Given the description of an element on the screen output the (x, y) to click on. 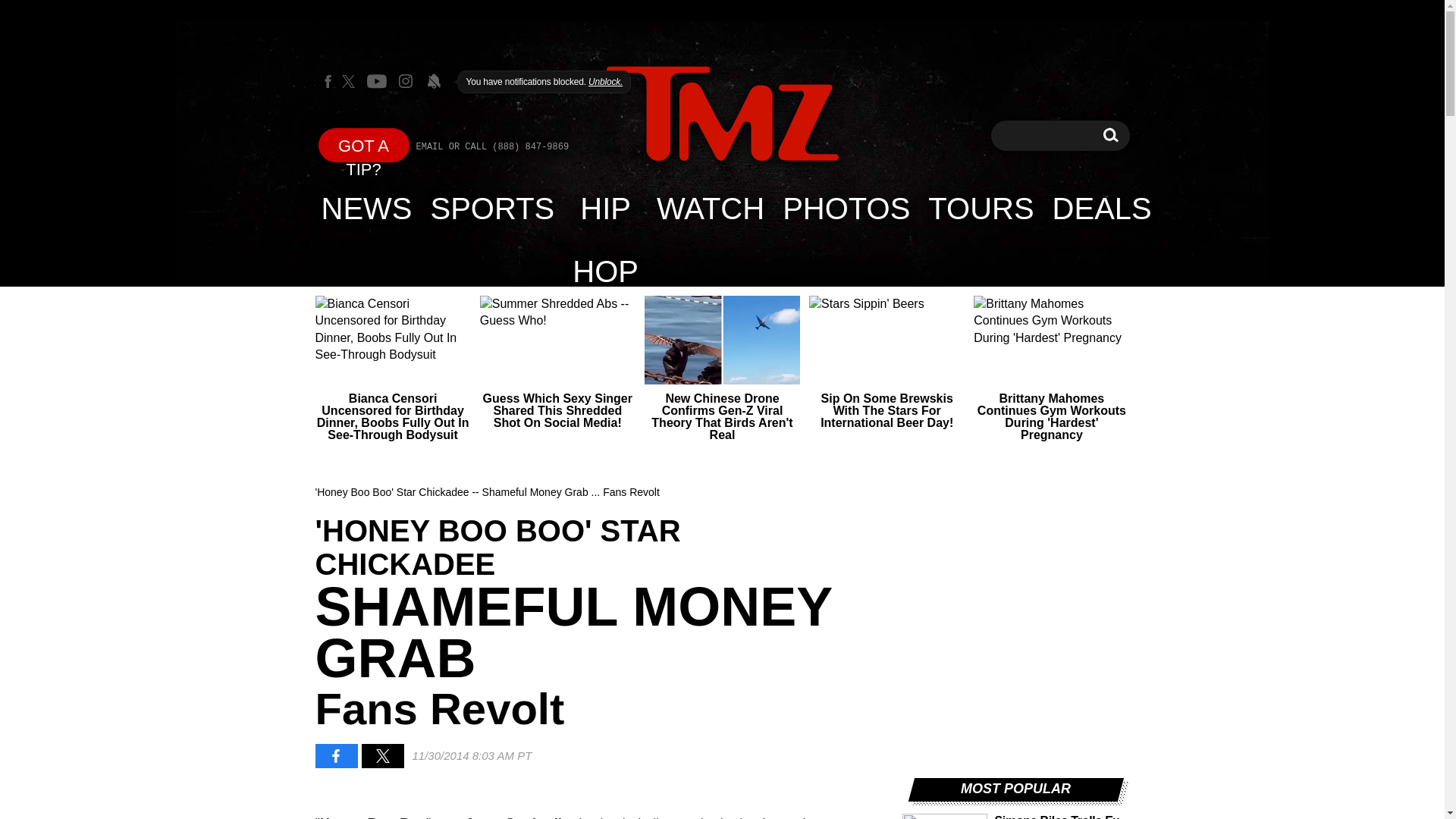
NEWS (367, 207)
HIP HOP (605, 207)
TOURS (980, 207)
DEALS (1101, 207)
Search (1110, 134)
TMZ (1110, 135)
WATCH (722, 115)
PHOTOS (710, 207)
